Given the description of an element on the screen output the (x, y) to click on. 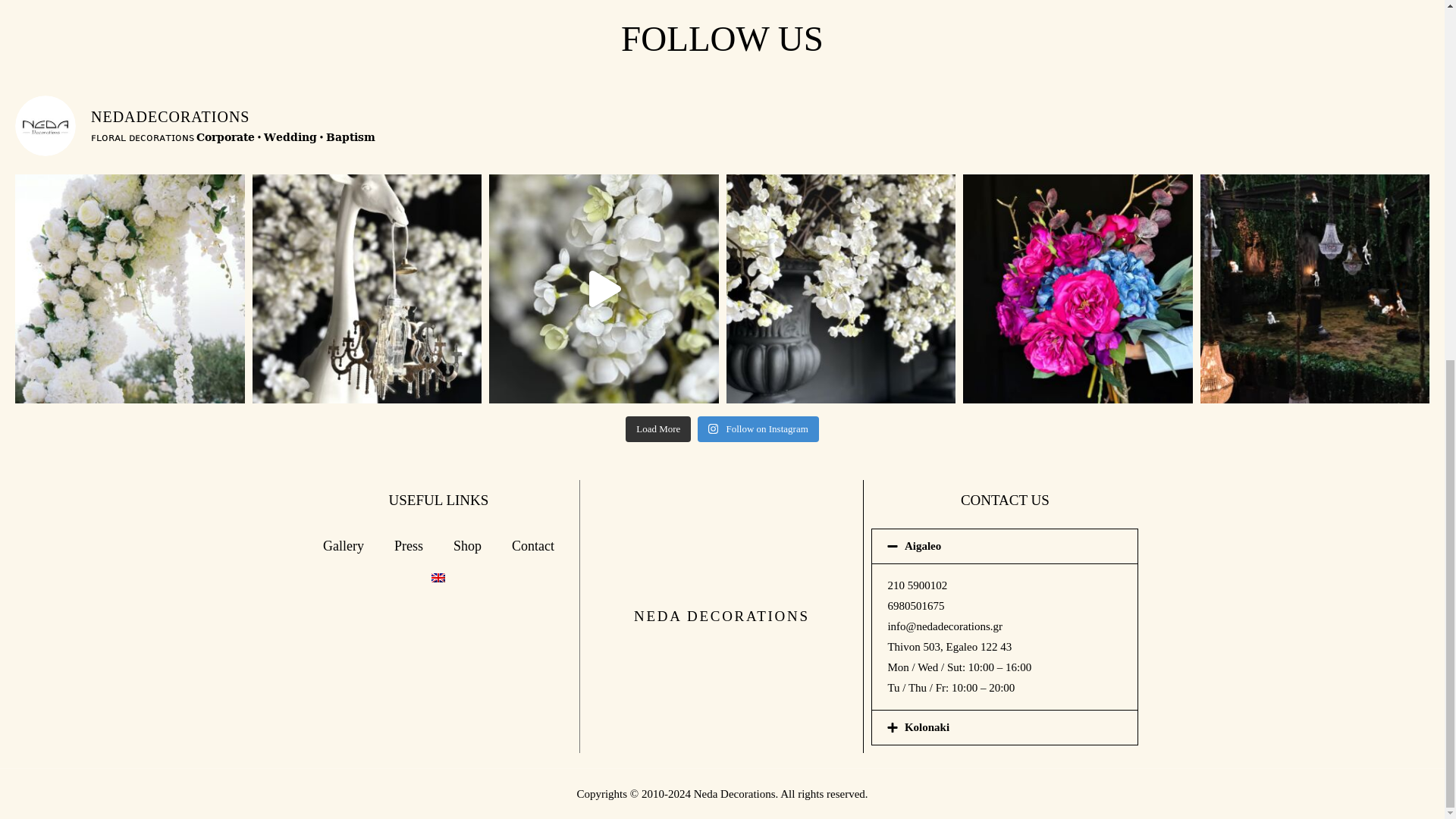
Load More (658, 429)
Gallery (342, 545)
Press (408, 545)
Shop (467, 545)
Follow on Instagram (757, 429)
Contact (532, 545)
